Given the description of an element on the screen output the (x, y) to click on. 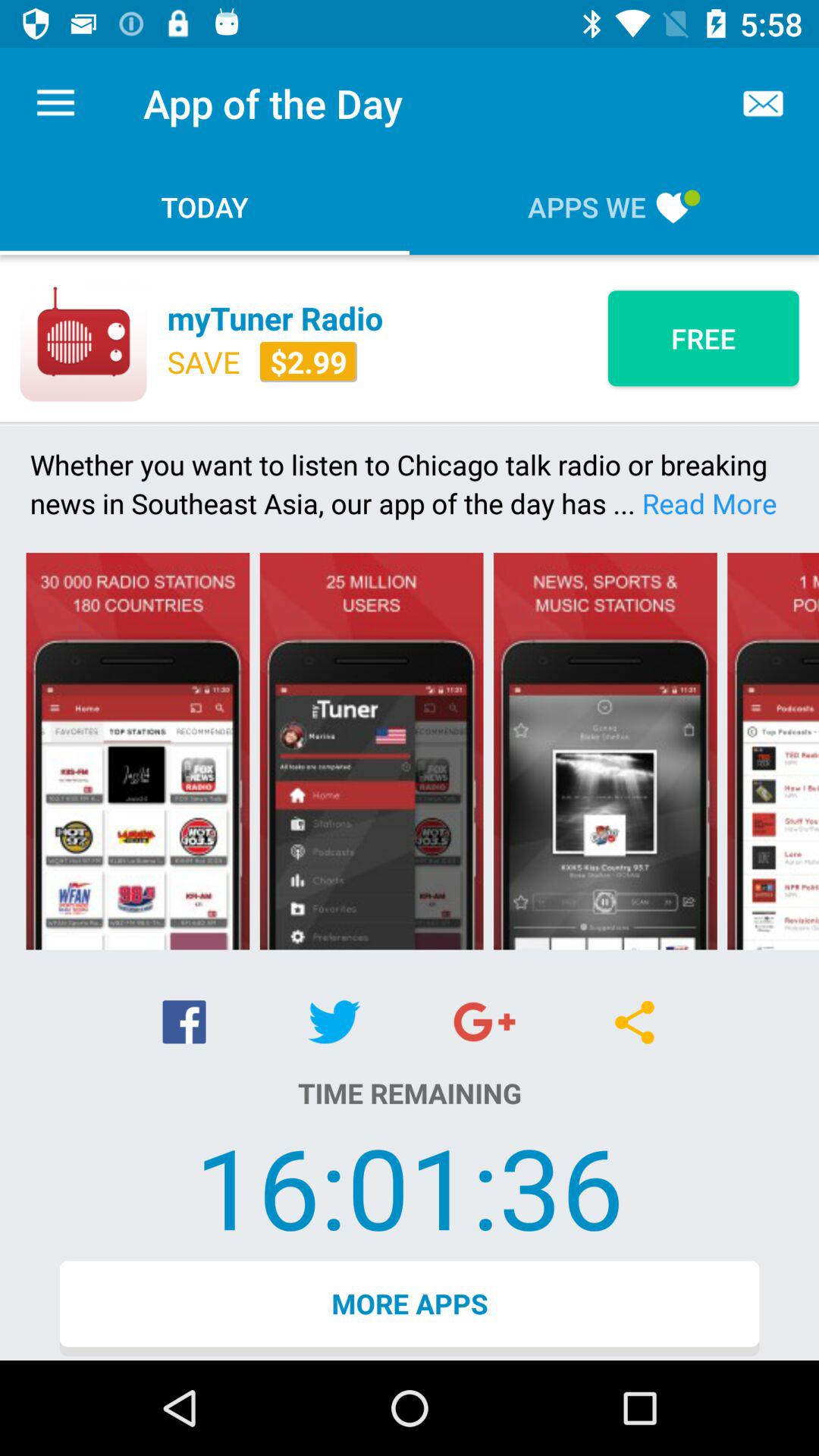
tap icon below the 16:01:35 (409, 1308)
